Given the description of an element on the screen output the (x, y) to click on. 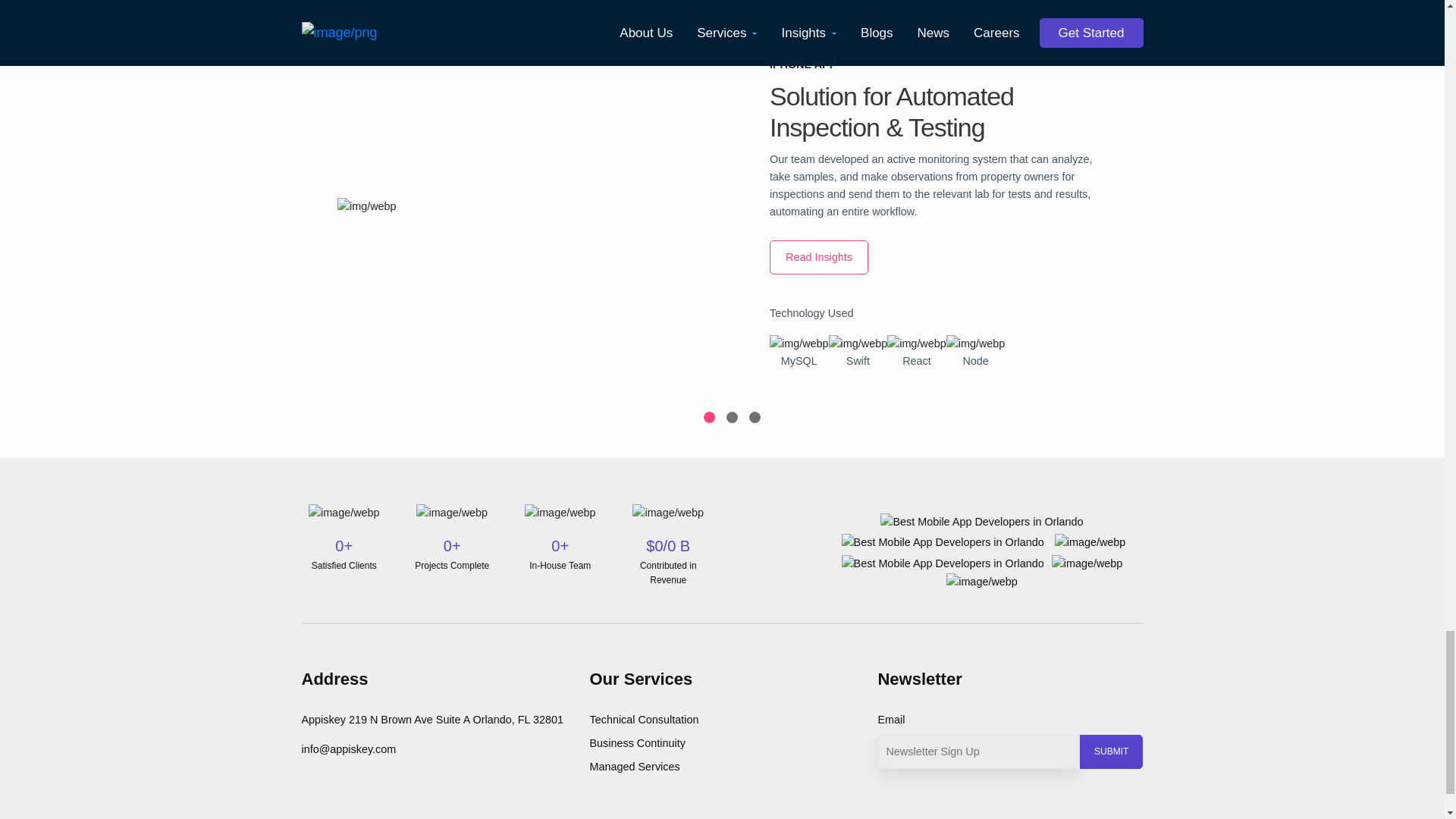
Florida (982, 580)
Good Firms (1087, 562)
IT Services companies (1090, 541)
Top Clutch Blockchain Company Pakistan 2023 (981, 521)
